Given the description of an element on the screen output the (x, y) to click on. 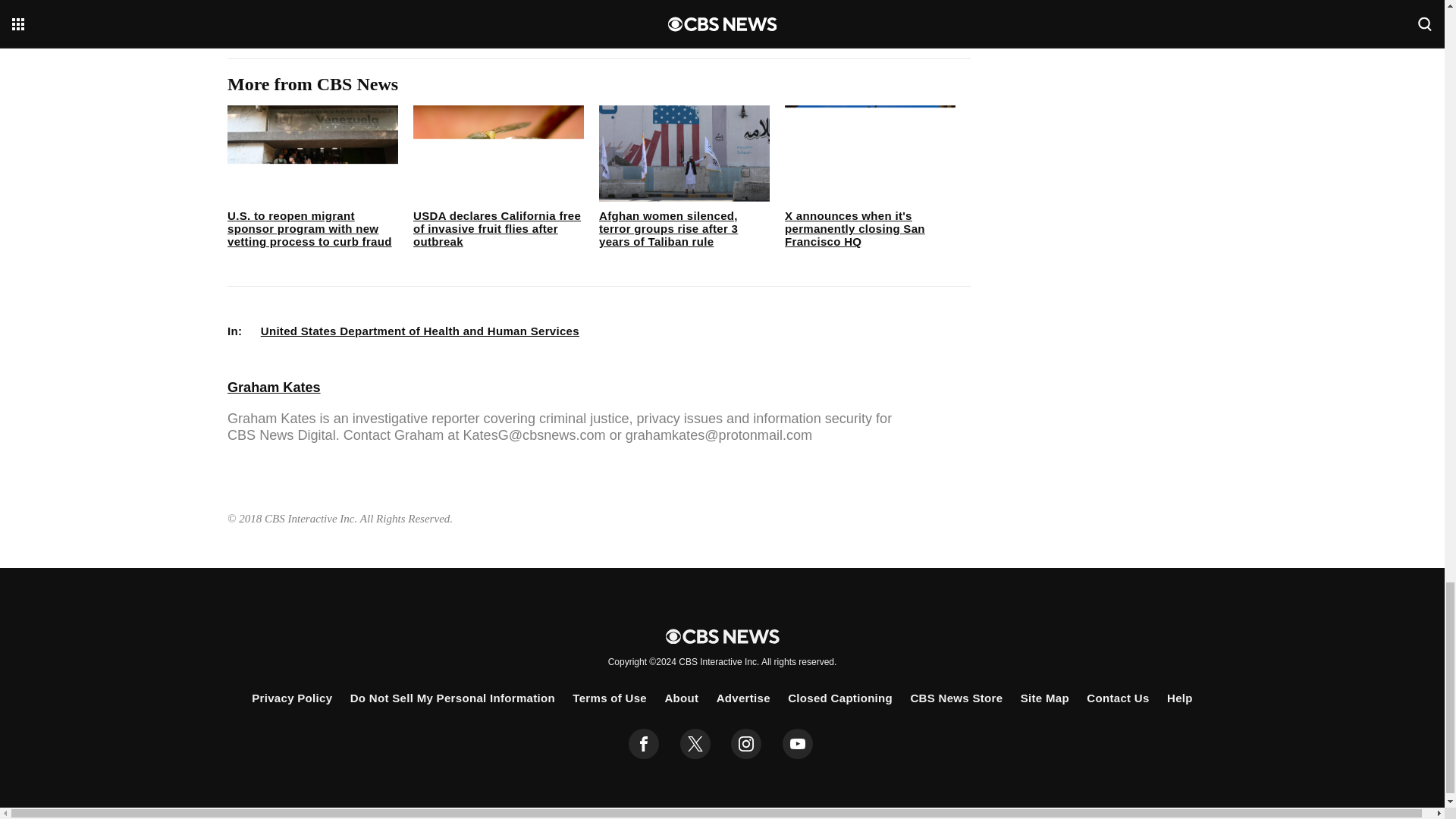
twitter (694, 743)
facebook (643, 743)
youtube (797, 743)
instagram (745, 743)
